Given the description of an element on the screen output the (x, y) to click on. 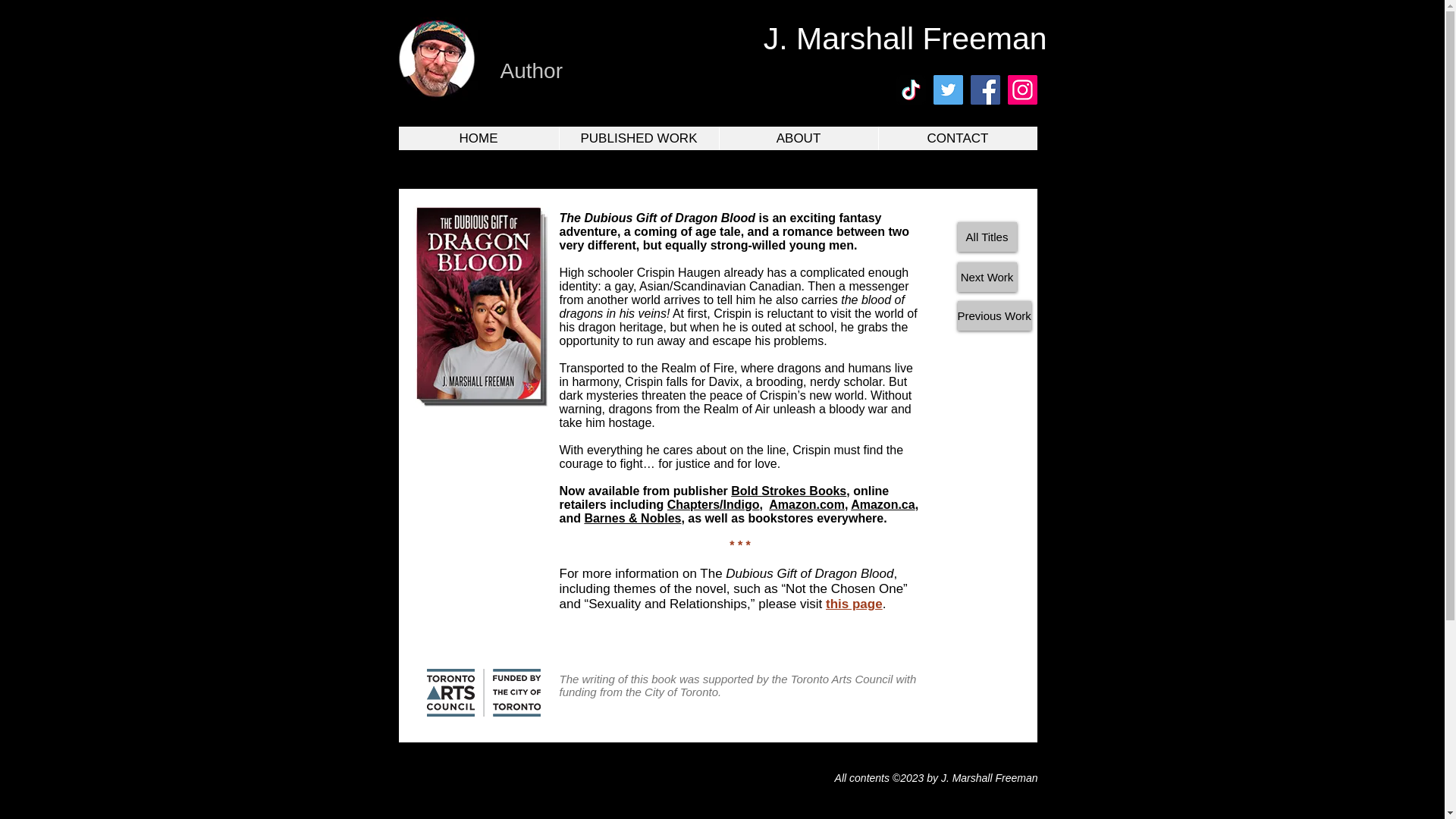
ABOUT (798, 137)
HOME (478, 137)
Next Work (986, 276)
Amazon.com (806, 504)
CONTACT (956, 137)
Previous Work (993, 315)
this page (853, 603)
Amazon.ca (882, 504)
PUBLISHED WORK (637, 137)
Bold Strokes Books (787, 490)
